Given the description of an element on the screen output the (x, y) to click on. 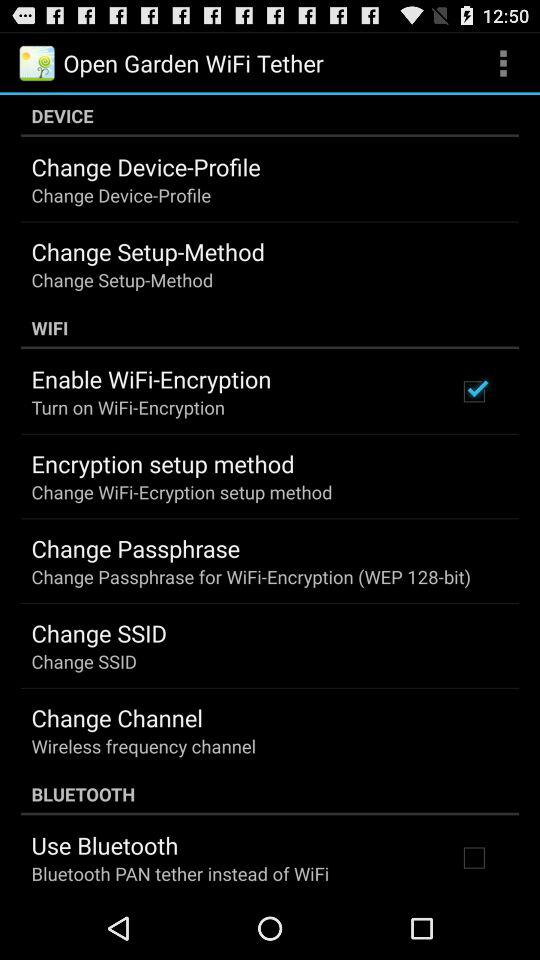
select app above wireless frequency channel item (116, 717)
